Given the description of an element on the screen output the (x, y) to click on. 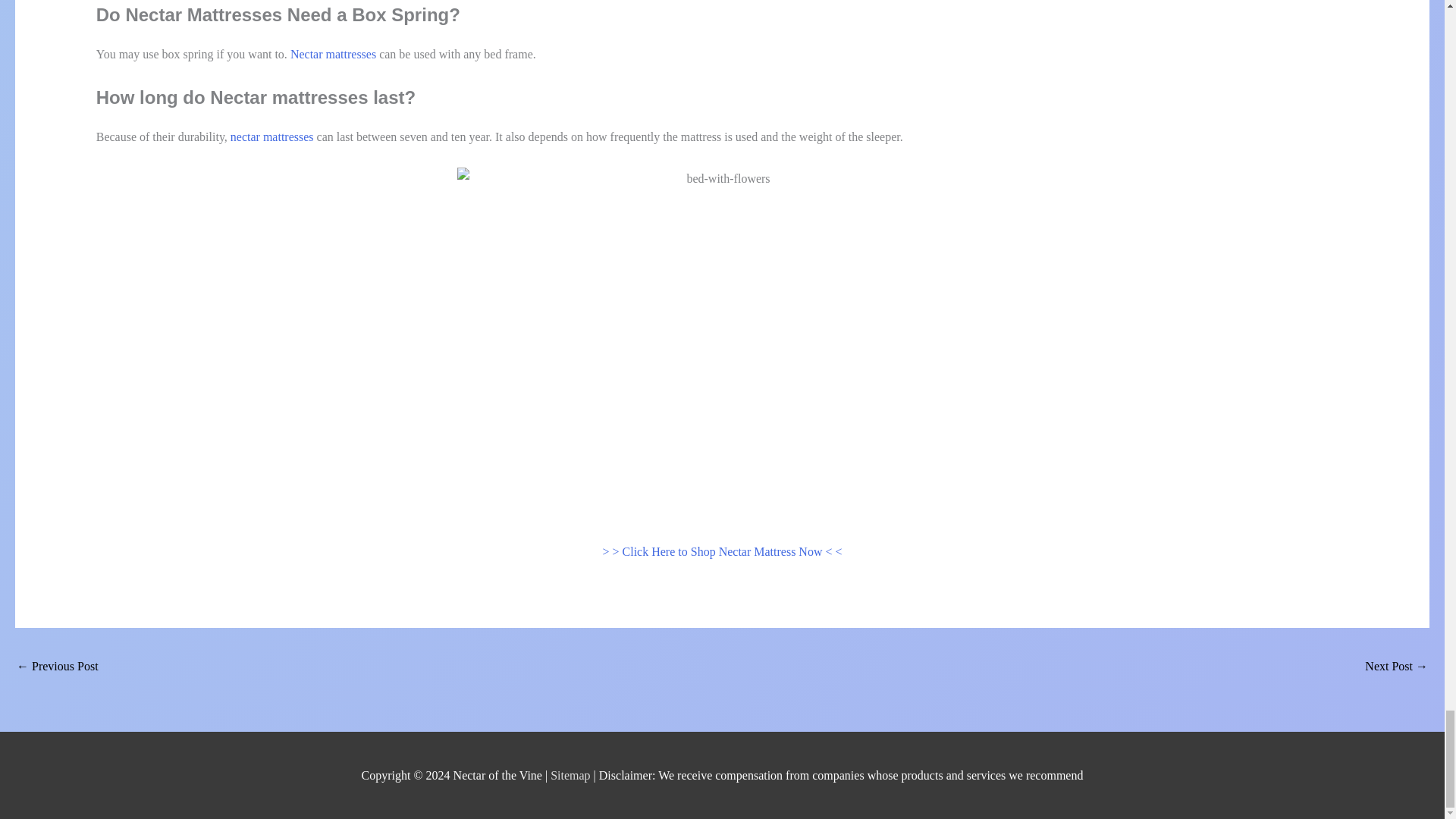
Nectar Mattress Net Worth (57, 667)
Sitemap (571, 775)
Nectar mattresses (332, 53)
Is Nectar Thr Best Mattress (1396, 667)
nectar mattresses (272, 136)
